Given the description of an element on the screen output the (x, y) to click on. 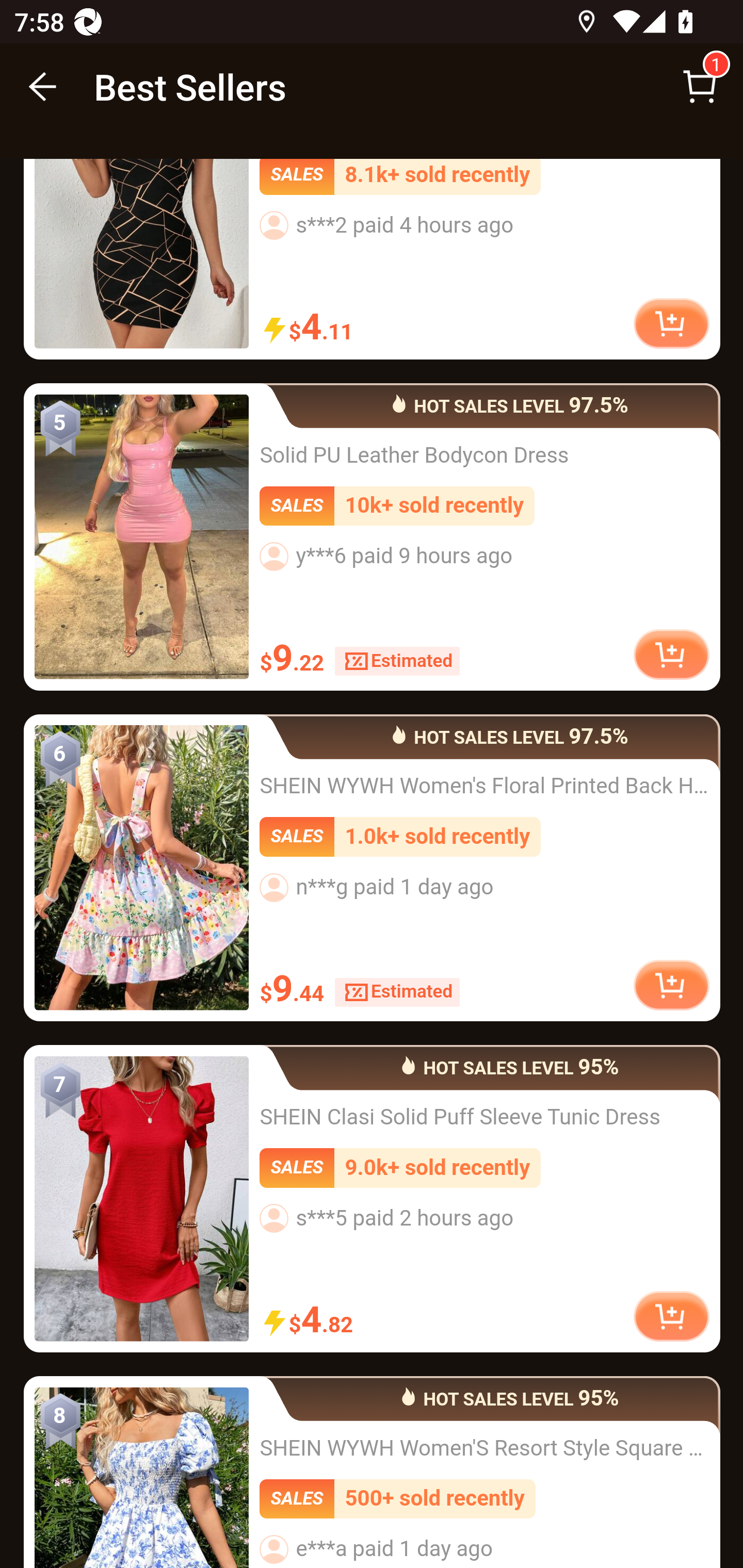
BACK (43, 86)
Cart 1 (699, 86)
add to cart (670, 323)
Solid PU Leather Bodycon Dress (141, 536)
add to cart (670, 654)
add to cart (670, 985)
SHEIN Clasi Solid Puff Sleeve Tunic Dress (141, 1199)
add to cart (670, 1316)
